Given the description of an element on the screen output the (x, y) to click on. 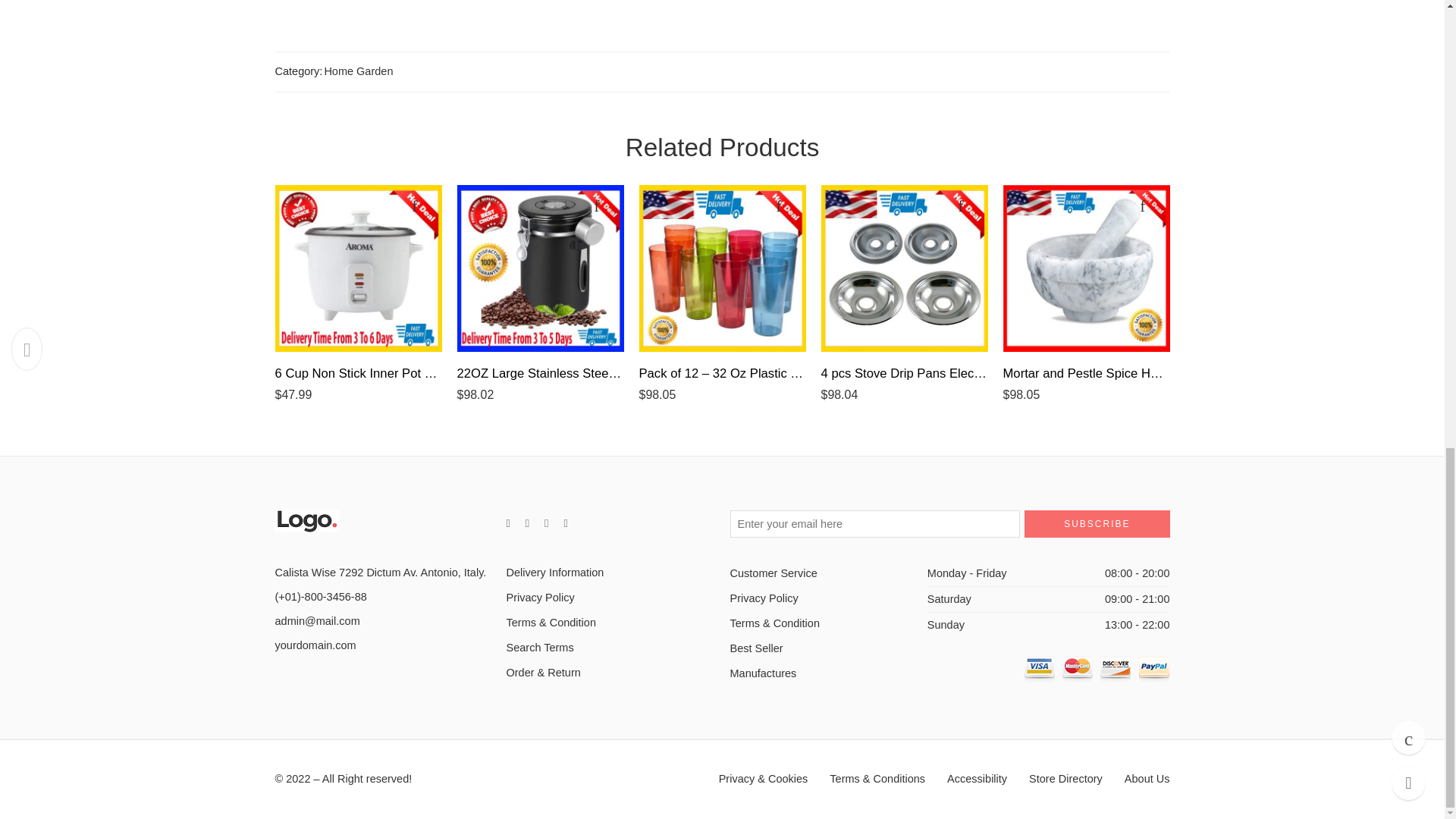
SUBSCRIBE (1097, 523)
